Given the description of an element on the screen output the (x, y) to click on. 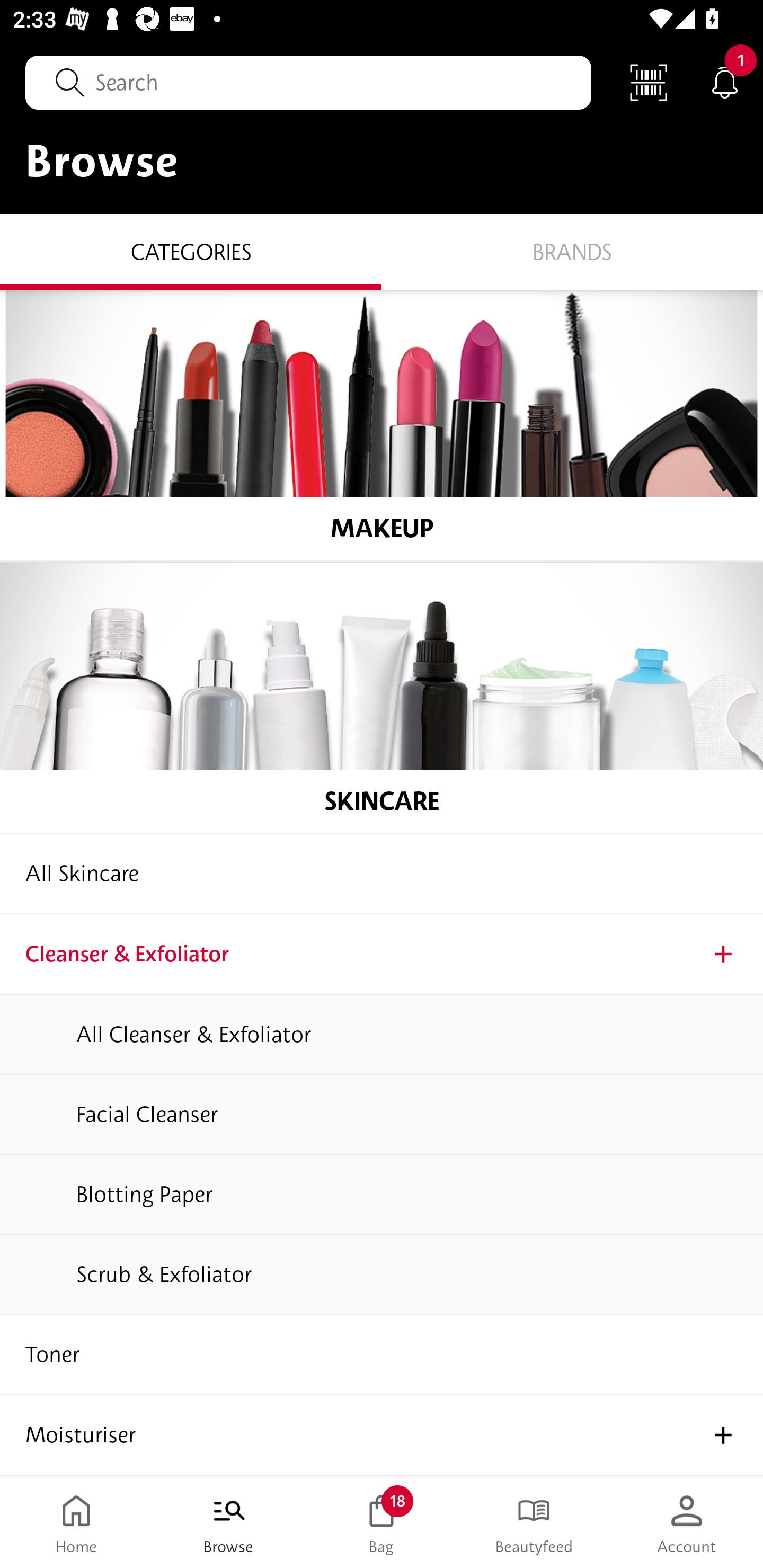
Scan Code (648, 81)
Notifications (724, 81)
Search (308, 81)
Brands BRANDS (572, 251)
MAKEUP (381, 425)
All Skincare (381, 874)
All Cleanser & Exfoliator (381, 1035)
Facial Cleanser (381, 1115)
Blotting Paper (381, 1195)
Scrub & Exfoliator (381, 1275)
Toner (381, 1355)
Moisturiser (381, 1436)
Home (76, 1523)
Bag 18 Bag (381, 1523)
Beautyfeed (533, 1523)
Account (686, 1523)
